Given the description of an element on the screen output the (x, y) to click on. 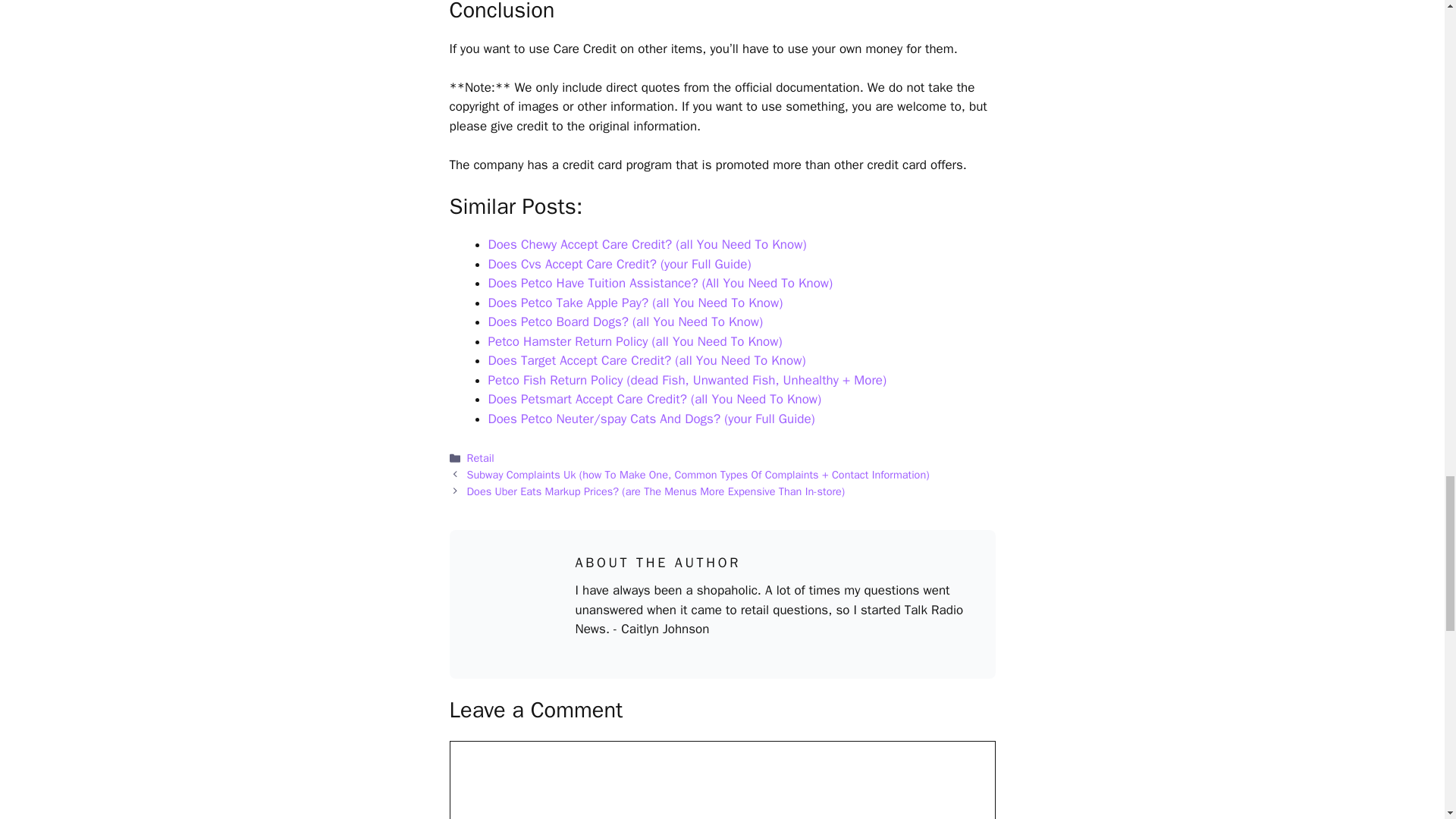
Previous (698, 474)
Next (656, 490)
Retail (481, 458)
